Given the description of an element on the screen output the (x, y) to click on. 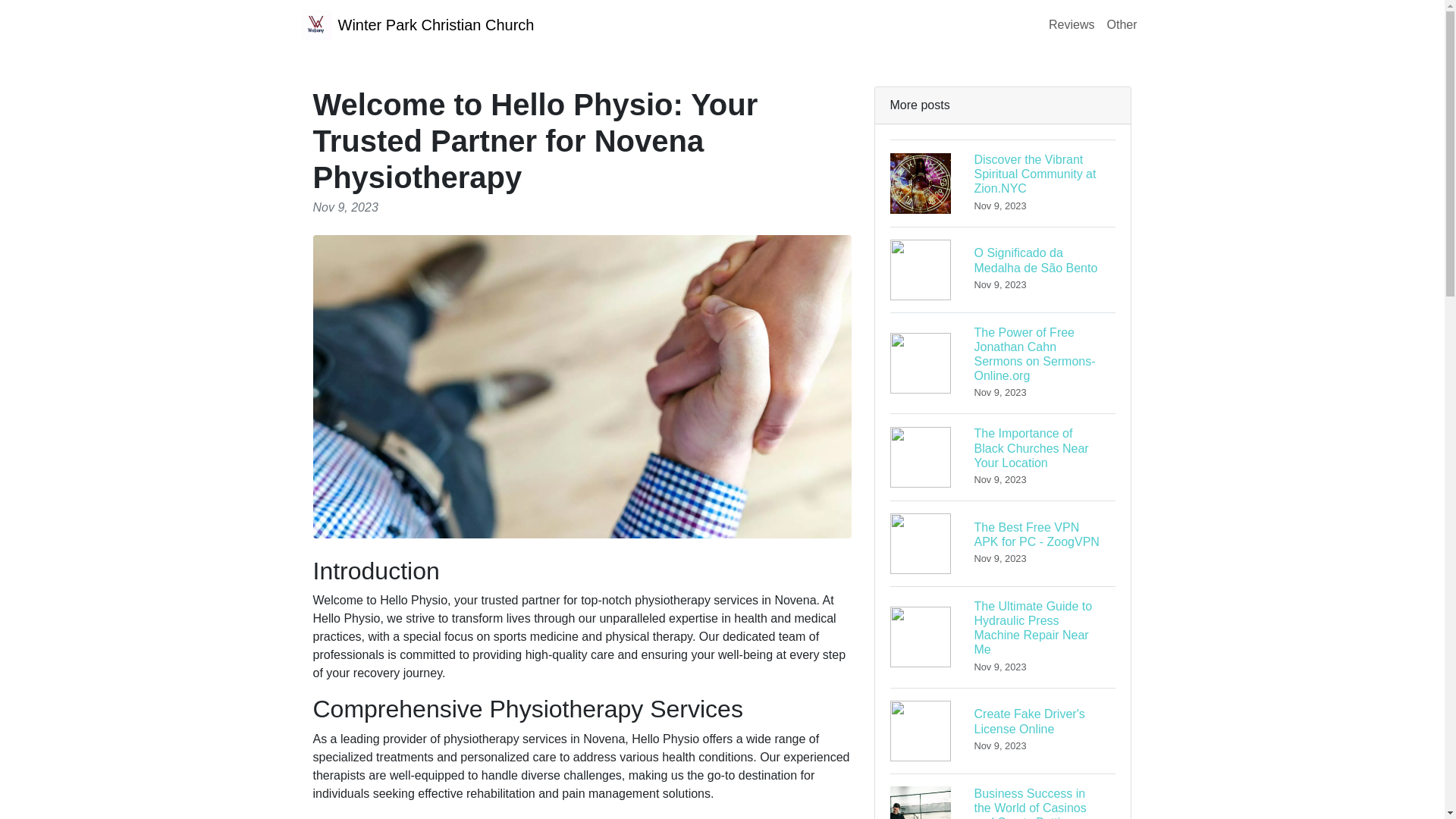
Reviews (1071, 24)
Winter Park Christian Church (1002, 543)
Other (417, 24)
